Given the description of an element on the screen output the (x, y) to click on. 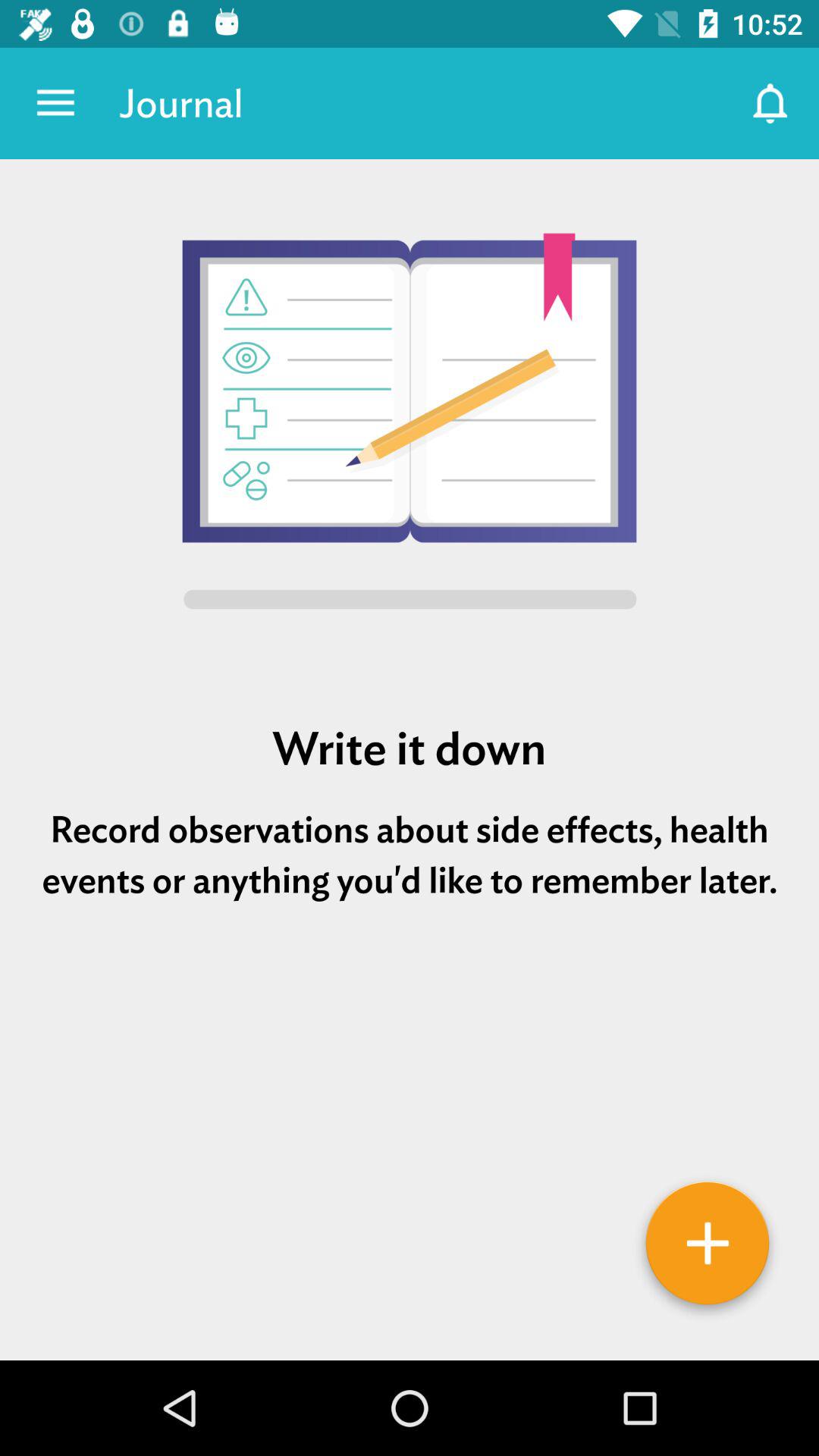
select the item next to journal (771, 103)
